Given the description of an element on the screen output the (x, y) to click on. 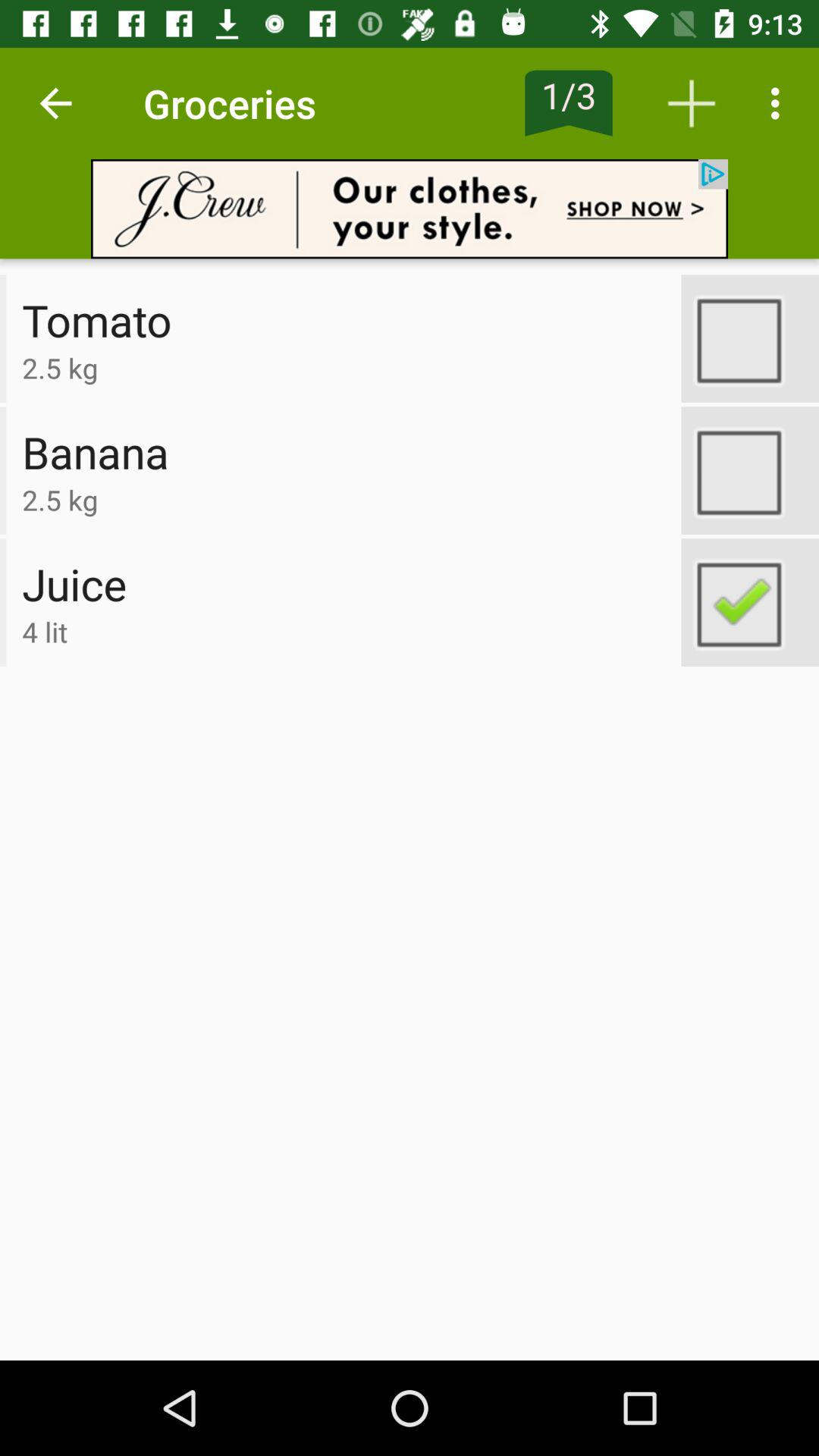
select food product (750, 602)
